Given the description of an element on the screen output the (x, y) to click on. 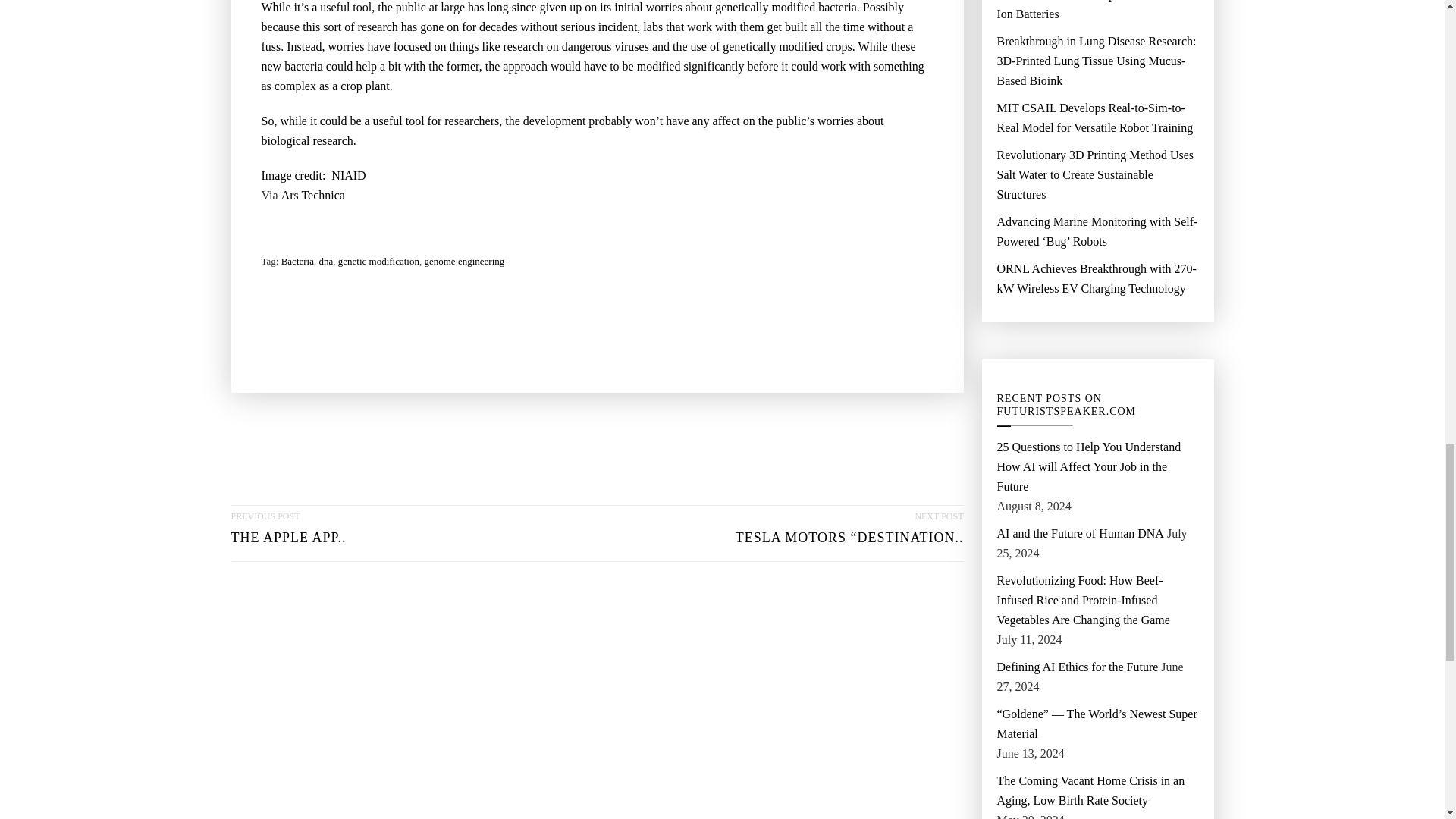
NIAID (348, 175)
genetic modification (288, 533)
Bacteria (378, 261)
genome engineering (297, 261)
Ars Technica (463, 261)
